Given the description of an element on the screen output the (x, y) to click on. 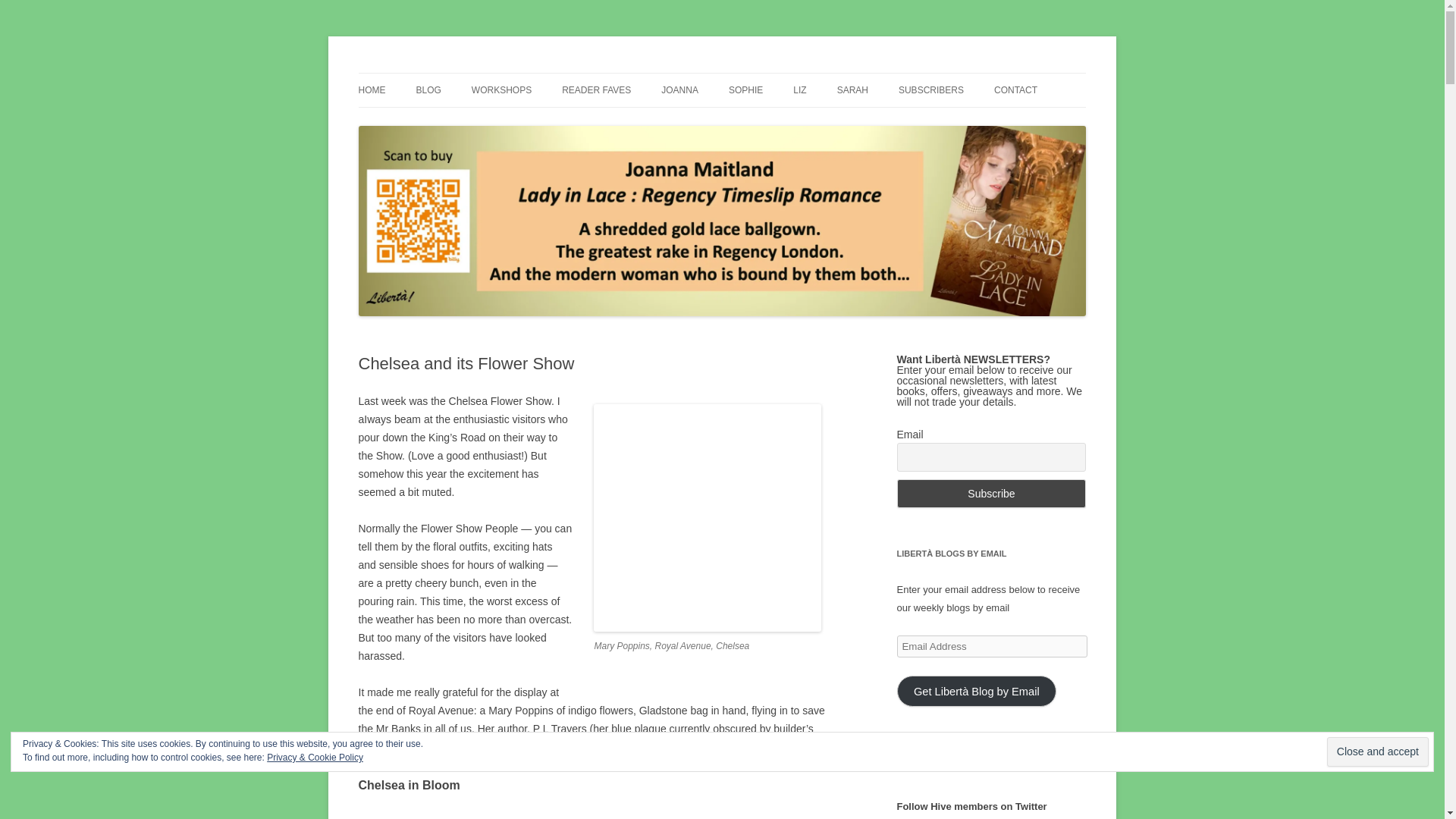
Subscribe (991, 493)
WORKSHOPS (501, 90)
Close and accept (1377, 751)
SARAH (852, 90)
CONTACT (1015, 90)
JOANNA (679, 90)
SUBSCRIBERS (930, 90)
SOPHIE (745, 90)
READER FAVES (596, 90)
Liberta Books (423, 72)
